Given the description of an element on the screen output the (x, y) to click on. 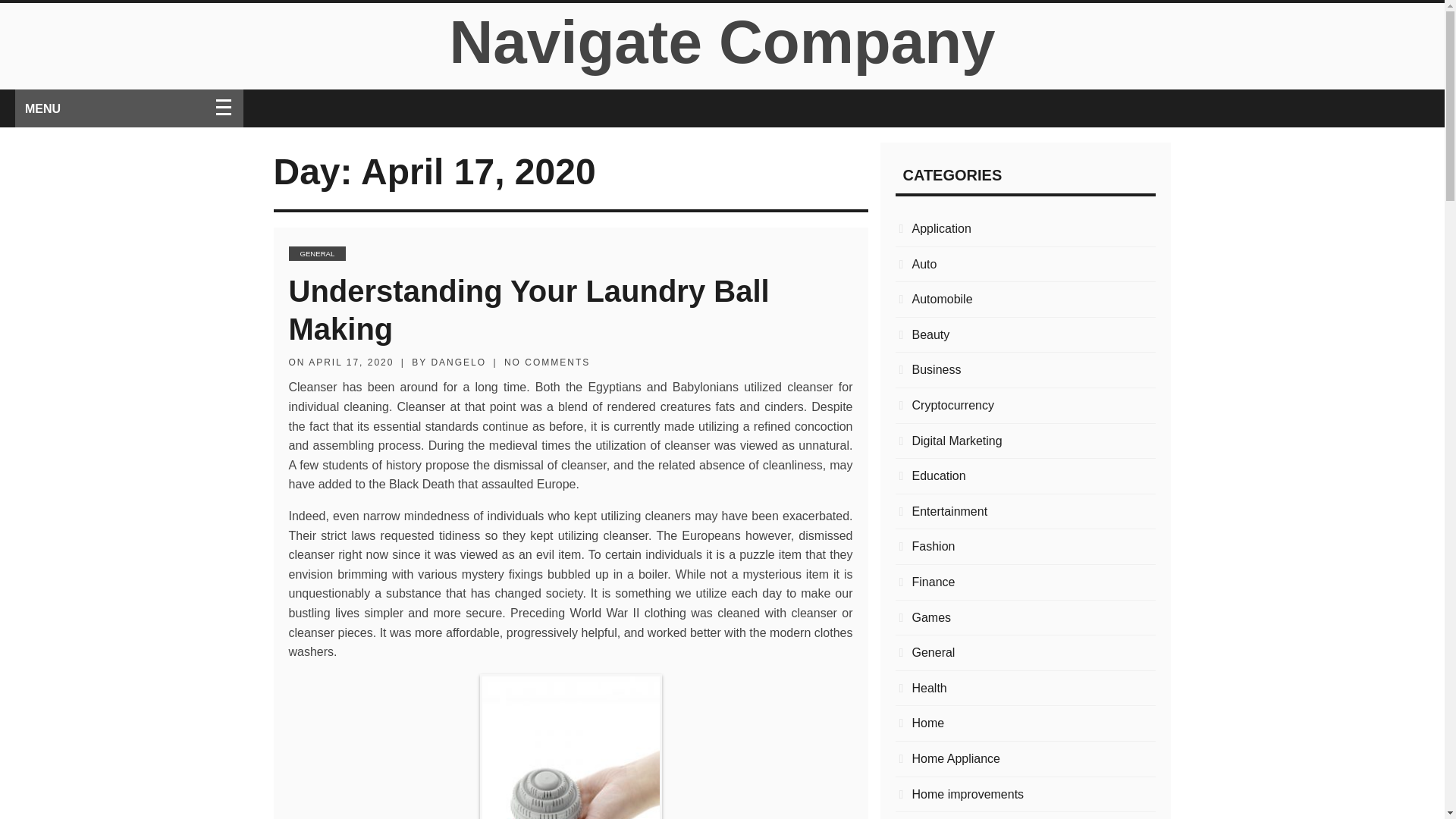
Finance (1025, 582)
GENERAL (317, 253)
Health (1025, 688)
APRIL 17, 2020 (350, 362)
Entertainment (1025, 511)
Automobile (1025, 299)
NO COMMENTS (546, 362)
Fashion (1025, 546)
Beauty (1025, 334)
General (1025, 652)
